Given the description of an element on the screen output the (x, y) to click on. 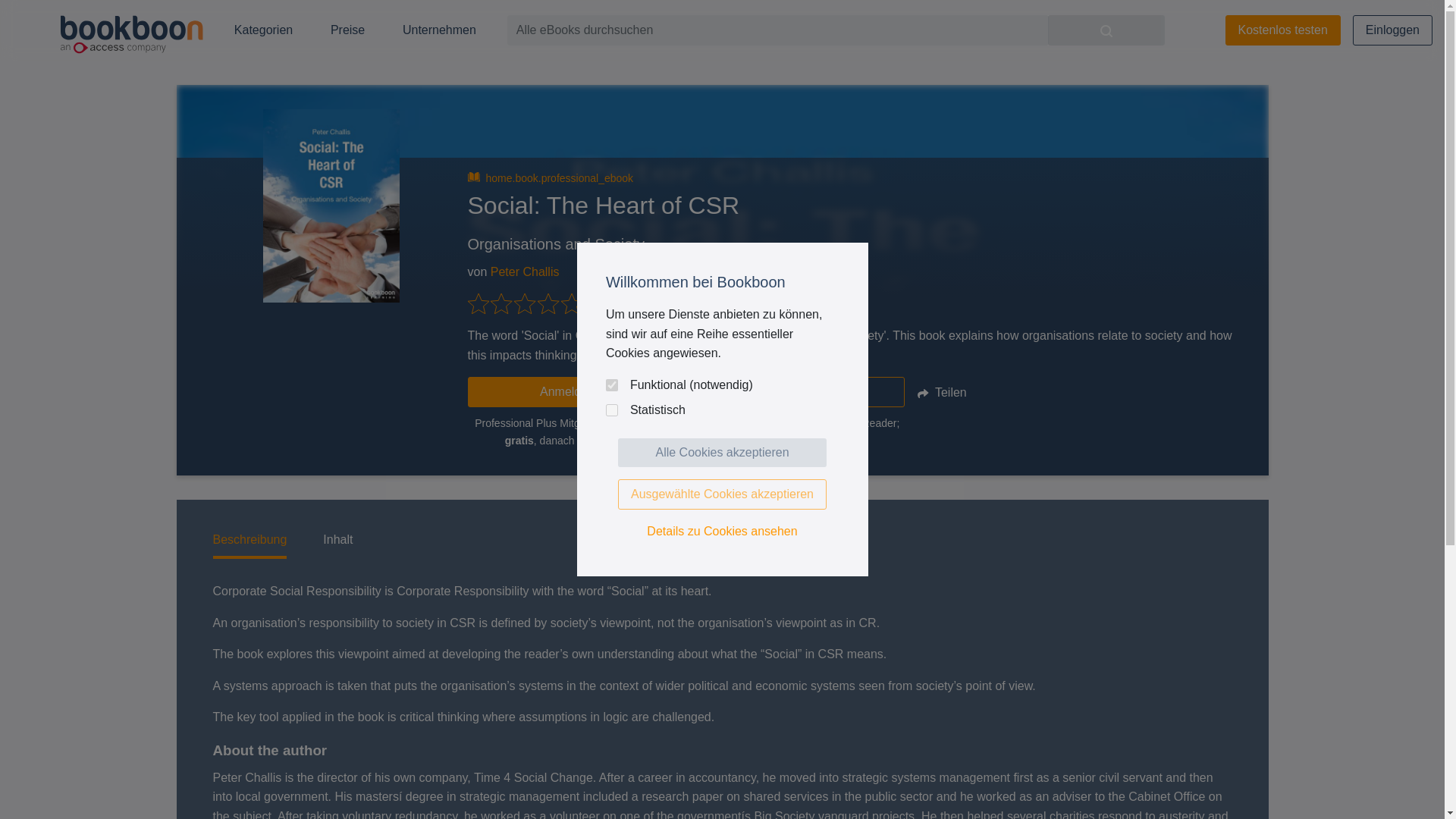
Preise (347, 30)
Details zu Cookies ansehen (722, 531)
Alle Cookies akzeptieren (722, 452)
STATISTICAL (611, 410)
Kategorien (263, 30)
FUNCTIONAL (611, 385)
Unternehmen (439, 30)
